Given the description of an element on the screen output the (x, y) to click on. 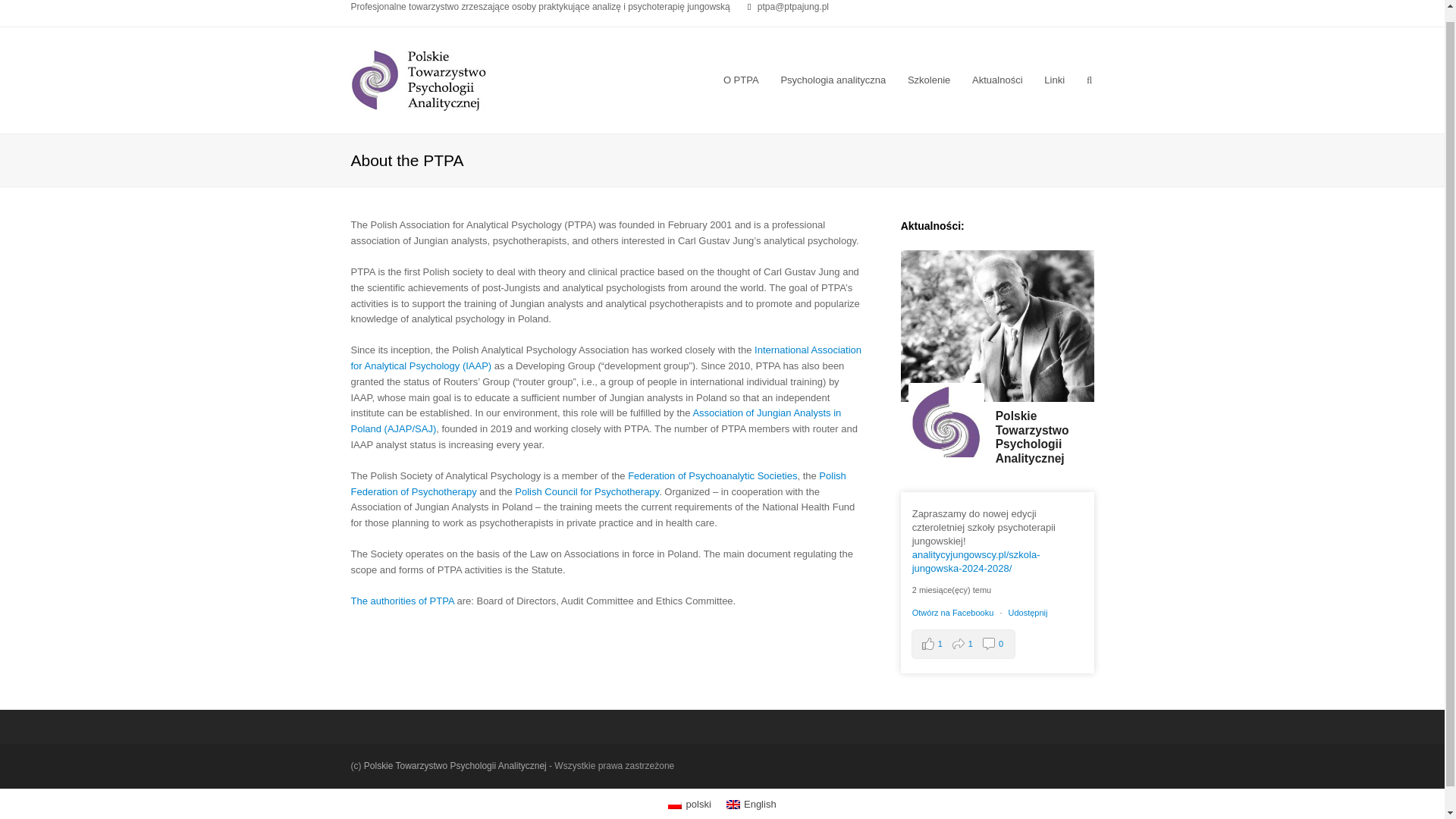
Linki (1054, 80)
Polish Council for Psychotherapy (587, 491)
Federation of Psychoanalytic Societies (711, 475)
The authorities of PTPA (401, 600)
Polskie Towarzystwo Psychologii Analitycznej (946, 420)
Polish Federation of Psychotherapy (597, 483)
O PTPA (741, 80)
English (732, 804)
Polskie Towarzystwo Psychologii Analitycznej (421, 79)
Szkolenie (928, 80)
